Given the description of an element on the screen output the (x, y) to click on. 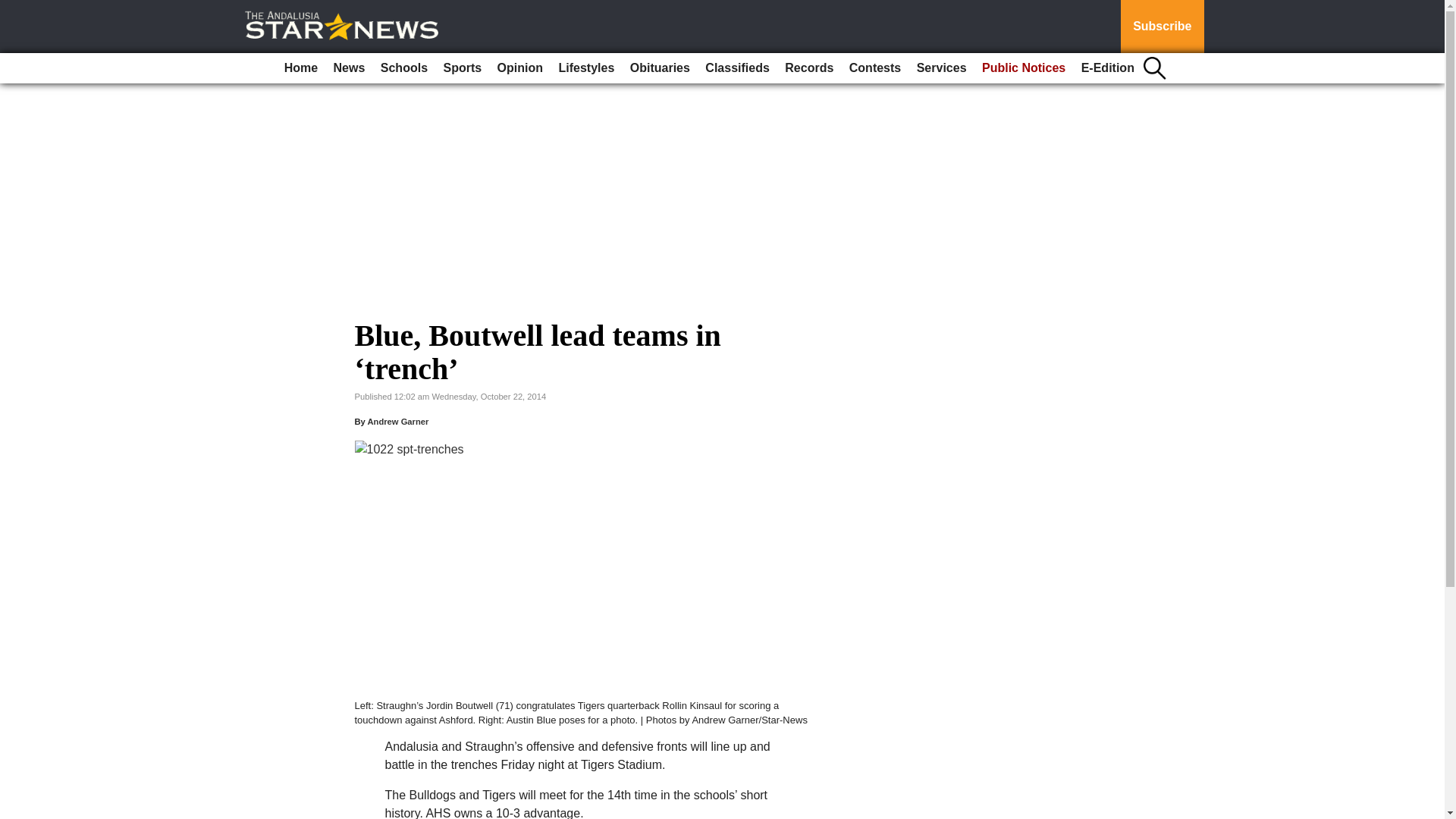
News (349, 68)
Home (300, 68)
E-Edition (1107, 68)
Andrew Garner (397, 420)
Obituaries (659, 68)
Subscribe (1162, 26)
Opinion (520, 68)
Go (13, 9)
Classifieds (736, 68)
Schools (403, 68)
